Given the description of an element on the screen output the (x, y) to click on. 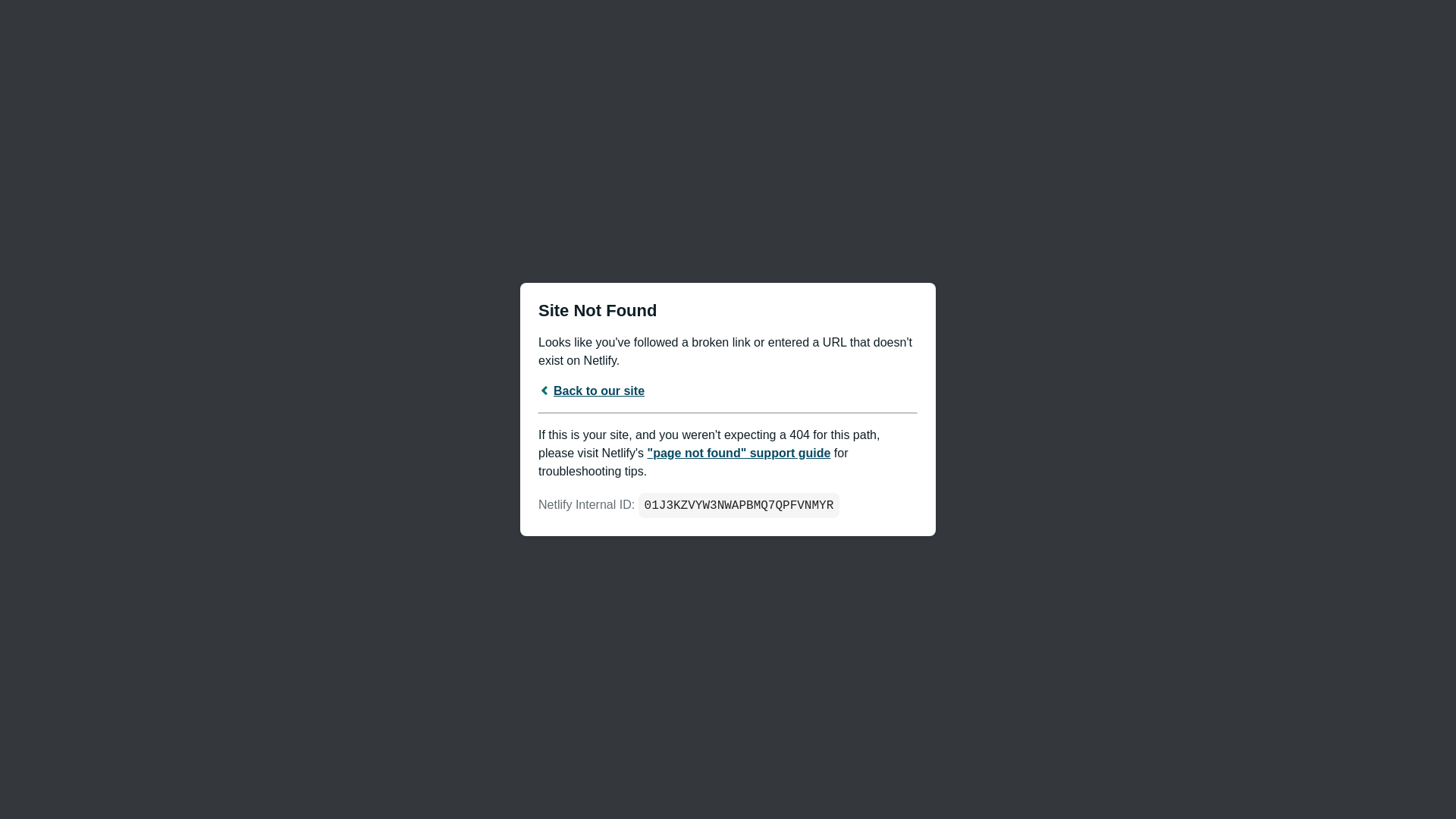
"page not found" support guide (739, 452)
Back to our site (591, 390)
